Given the description of an element on the screen output the (x, y) to click on. 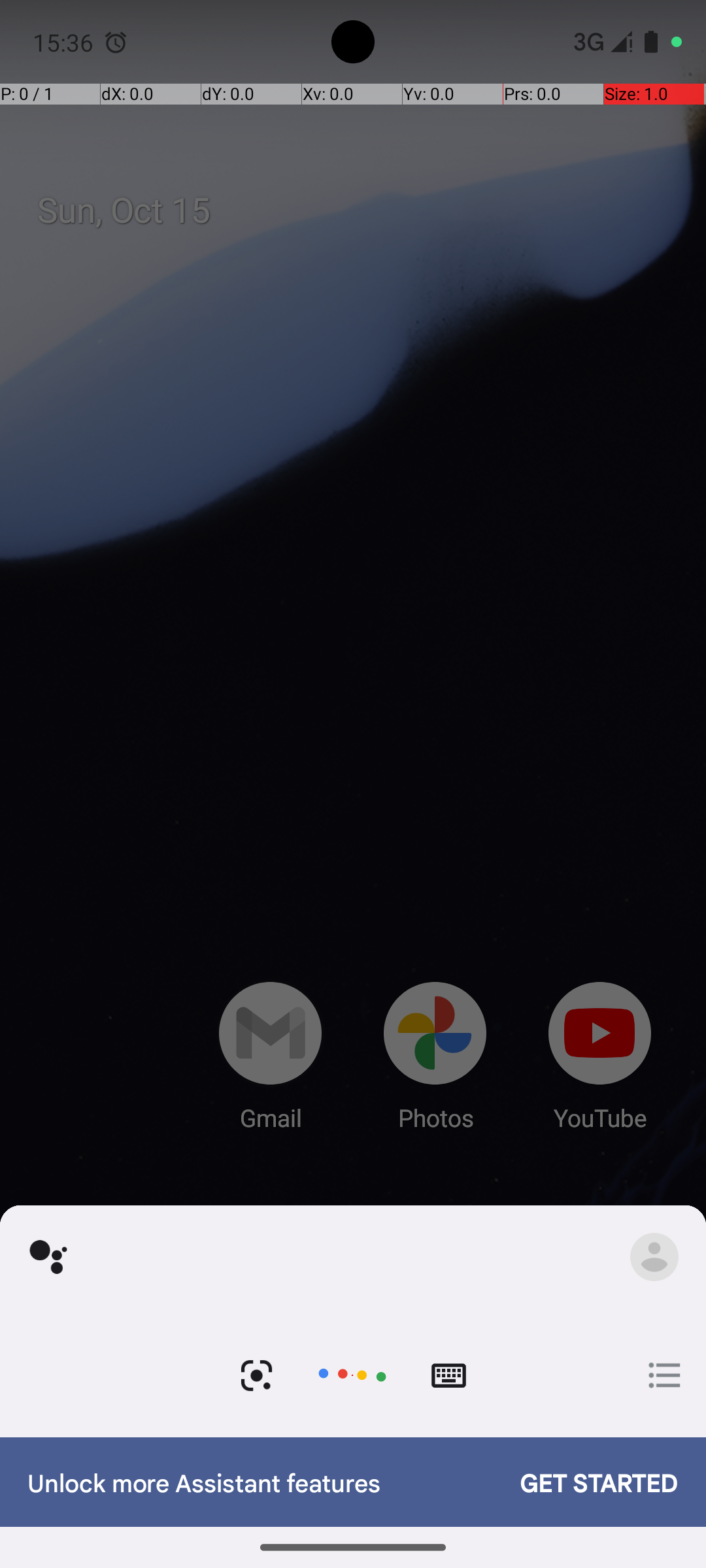
Tap to cancel Element type: android.view.View (351, 1375)
Unlock more Assistant features Element type: android.widget.TextView (259, 1481)
GET STARTED Element type: android.widget.TextView (585, 1481)
Google assistant Element type: android.widget.ImageView (48, 1256)
Google Assistant menu. Element type: android.widget.ImageView (654, 1256)
